Given the description of an element on the screen output the (x, y) to click on. 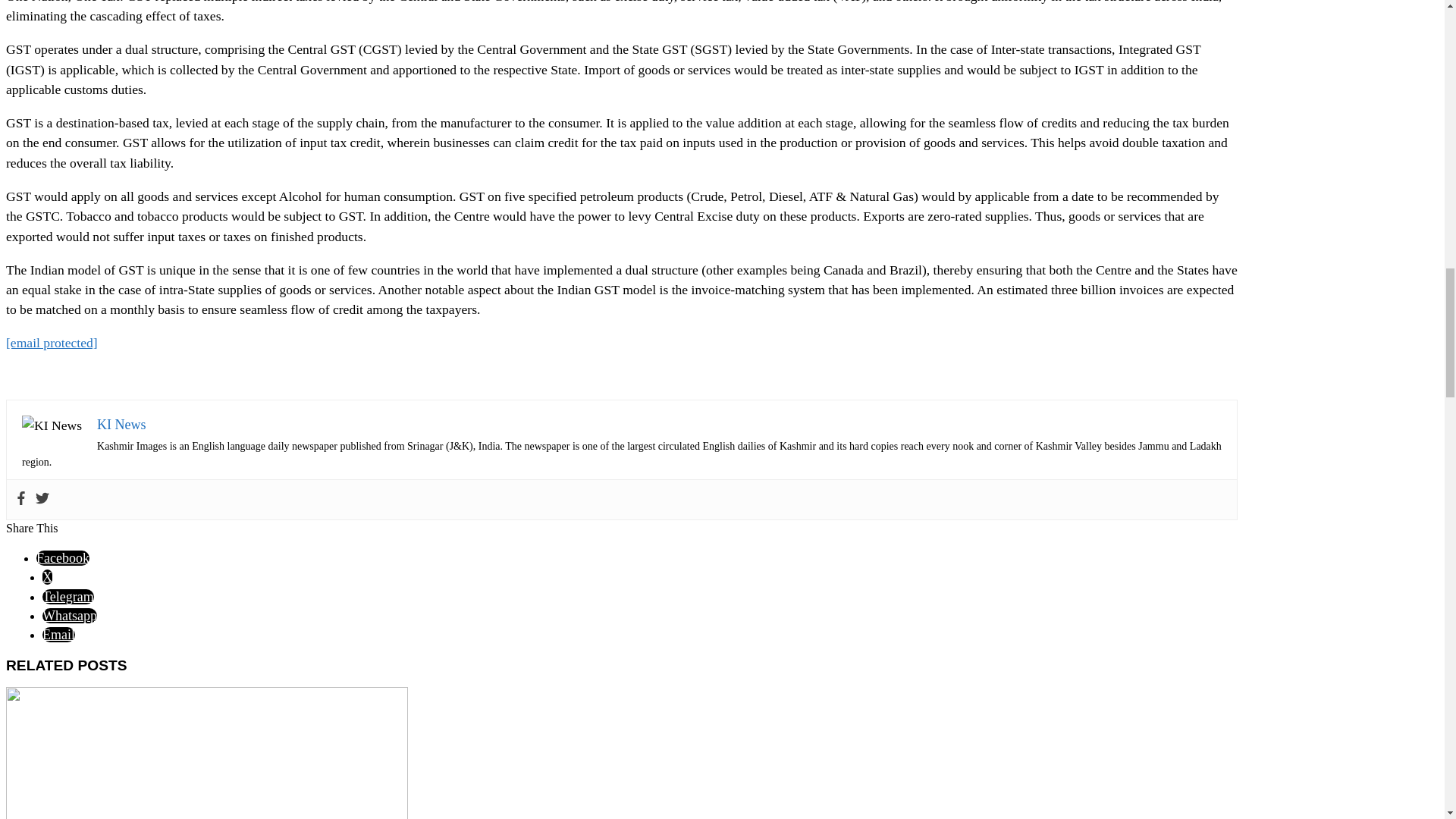
Facebook (62, 557)
Telegram (68, 596)
Whatsapp (69, 615)
KI News (122, 424)
Email (58, 634)
